Given the description of an element on the screen output the (x, y) to click on. 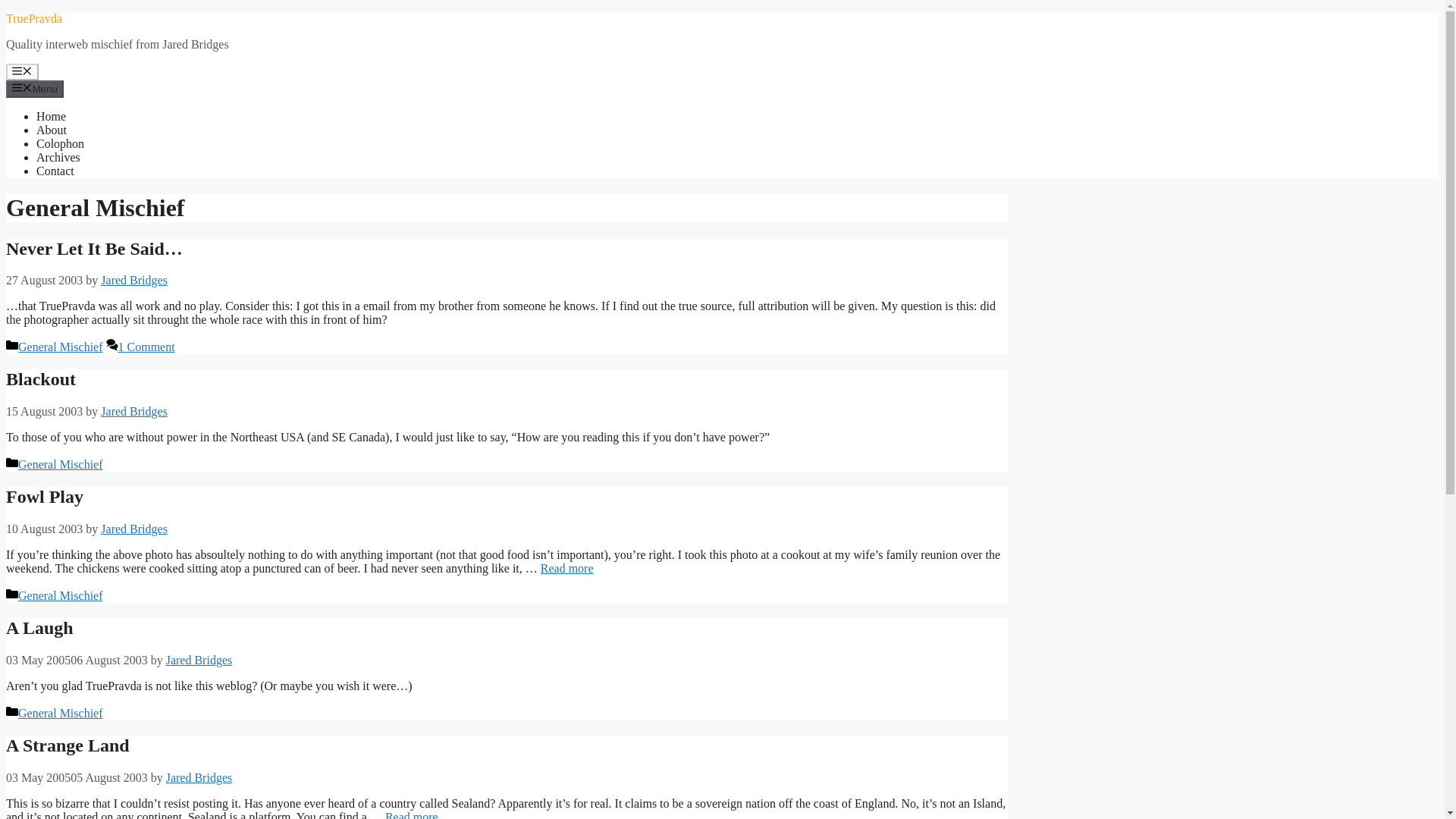
1 Comment (145, 346)
Jared Bridges (133, 279)
A Strange Land (67, 745)
Jared Bridges (198, 659)
General Mischief (60, 346)
Menu (22, 71)
A Strange Land (411, 814)
About (51, 129)
Jared Bridges (133, 528)
